Given the description of an element on the screen output the (x, y) to click on. 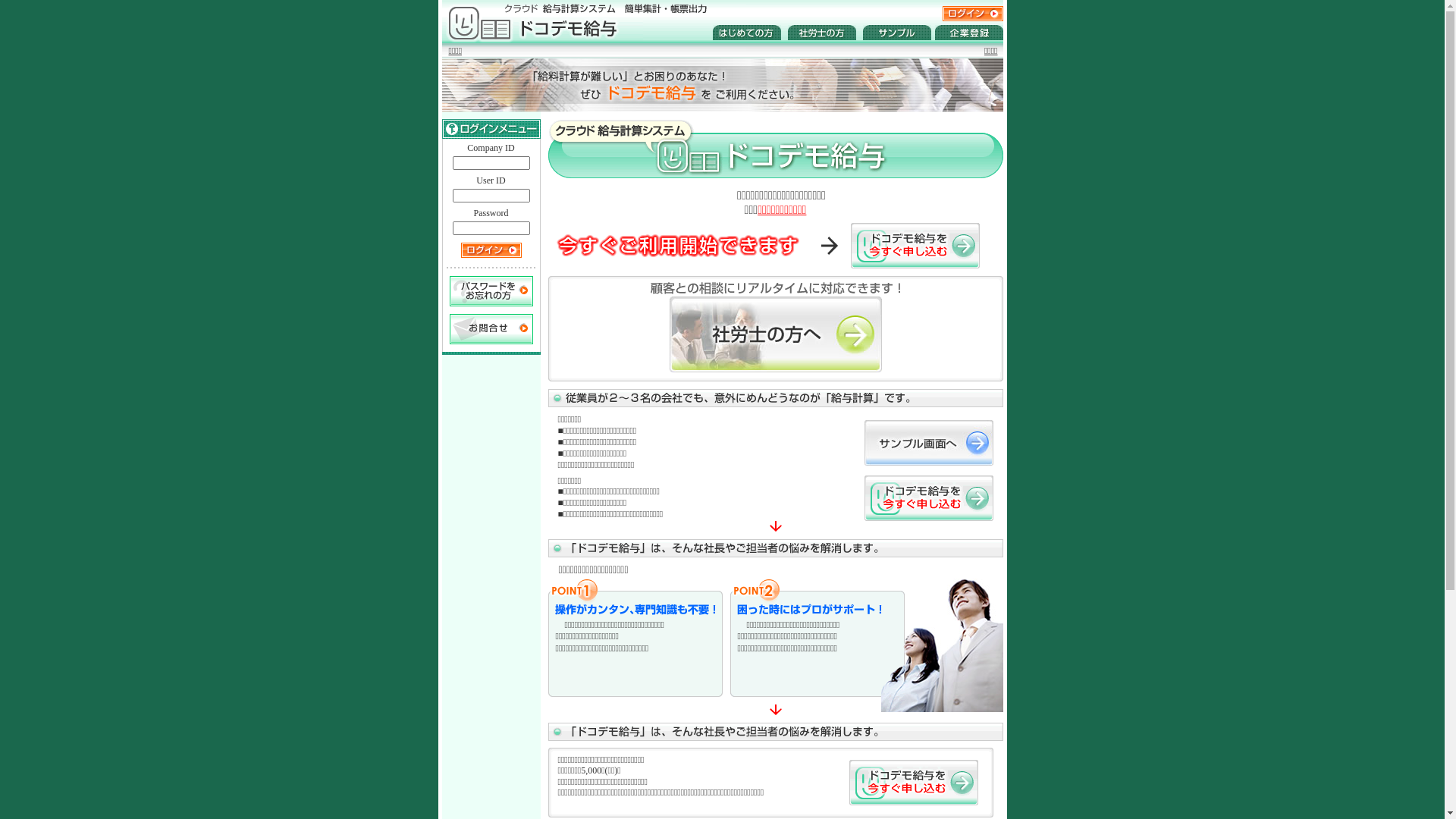
  LOGIN   Element type: text (490, 249)
